Given the description of an element on the screen output the (x, y) to click on. 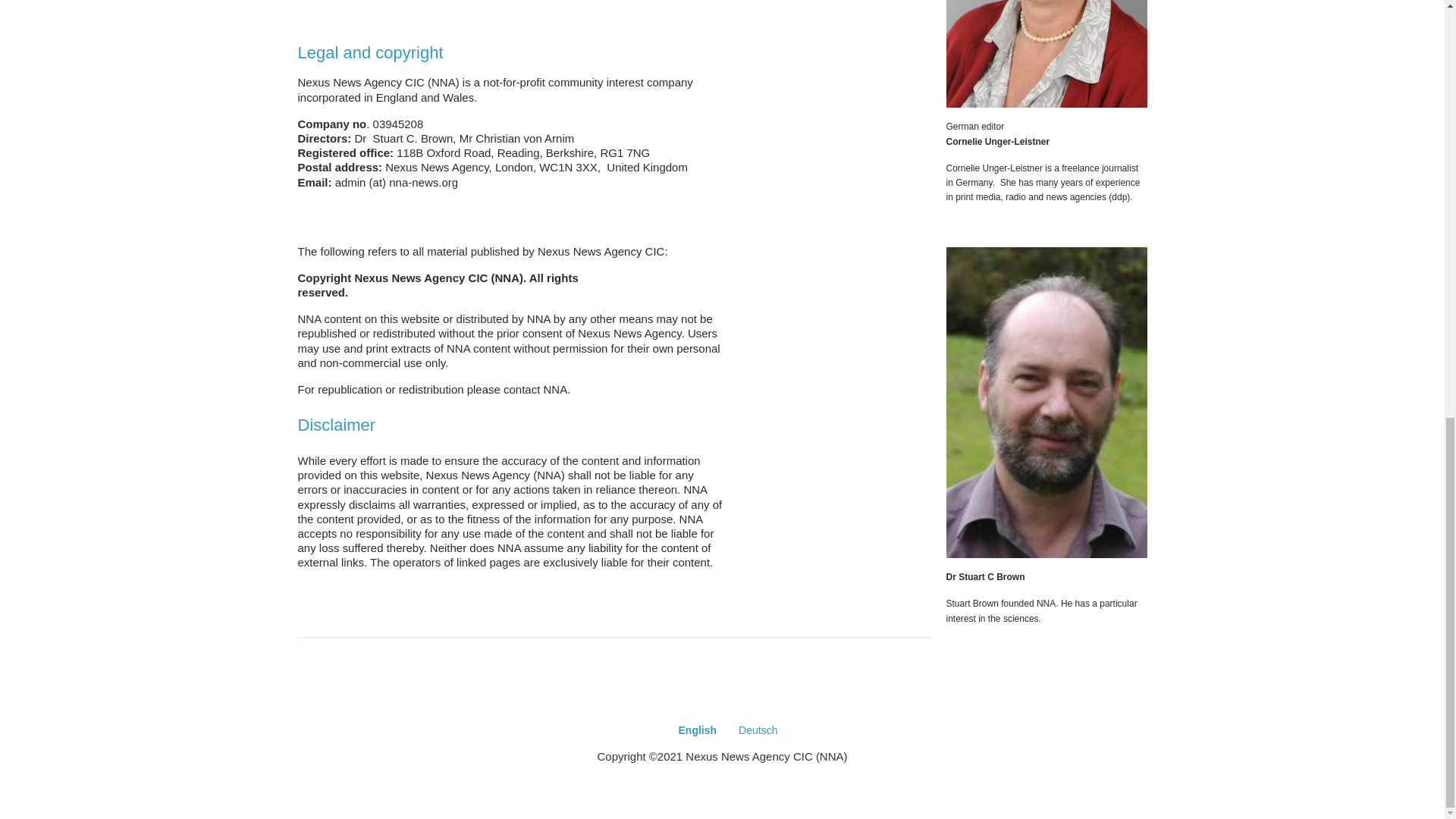
English (697, 729)
English (697, 729)
Deutsch (757, 729)
Deutsch (757, 729)
